Given the description of an element on the screen output the (x, y) to click on. 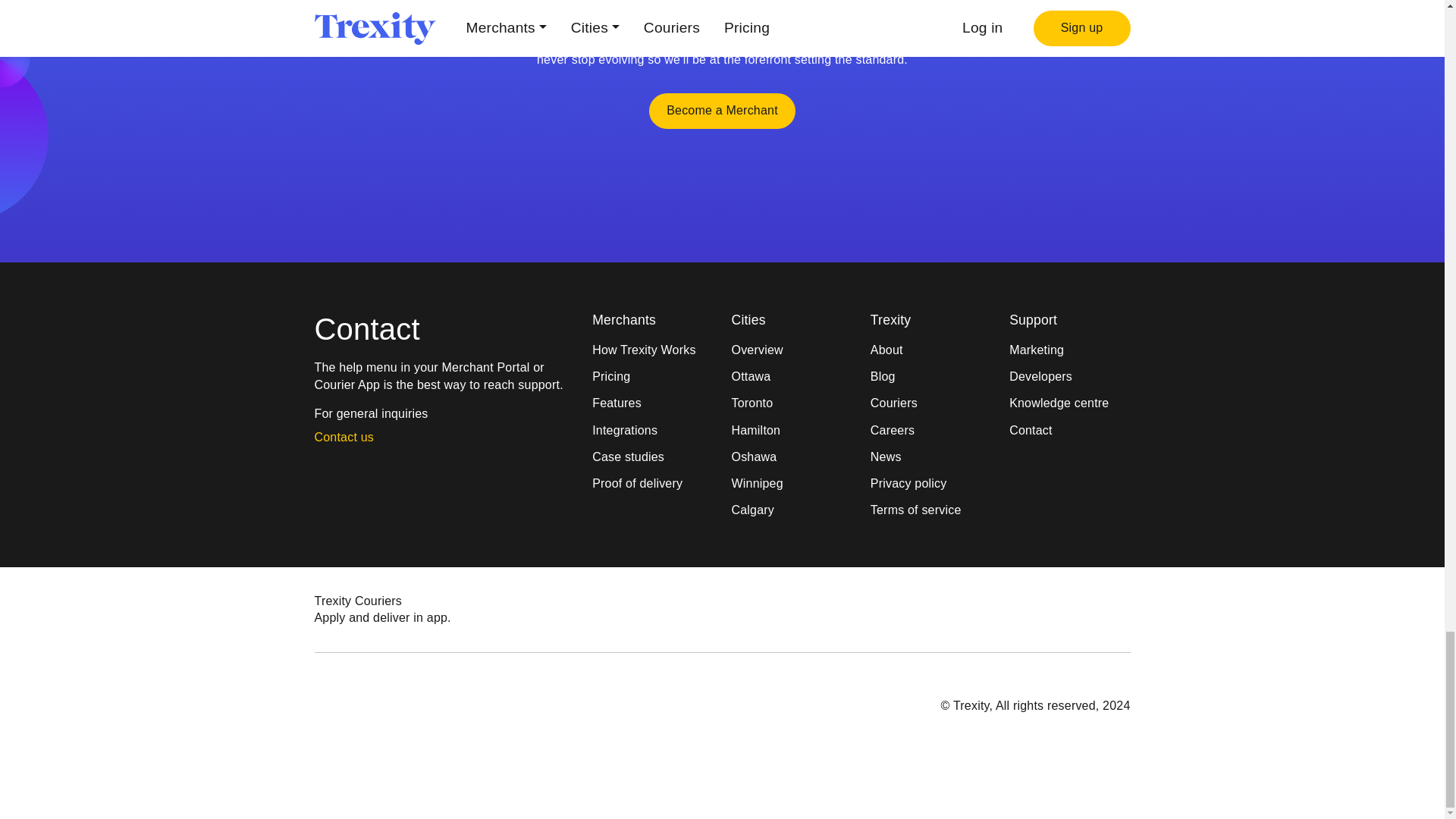
Overview (790, 350)
Oshawa (790, 457)
Features (652, 402)
Case studies (652, 457)
Contact us (352, 437)
Hamilton (790, 430)
Pricing (652, 376)
Winnipeg (790, 483)
Proof of delivery (652, 483)
Become a Merchant (721, 111)
How Trexity Works (652, 350)
Ottawa (790, 376)
Toronto (790, 402)
Integrations (652, 430)
